Given the description of an element on the screen output the (x, y) to click on. 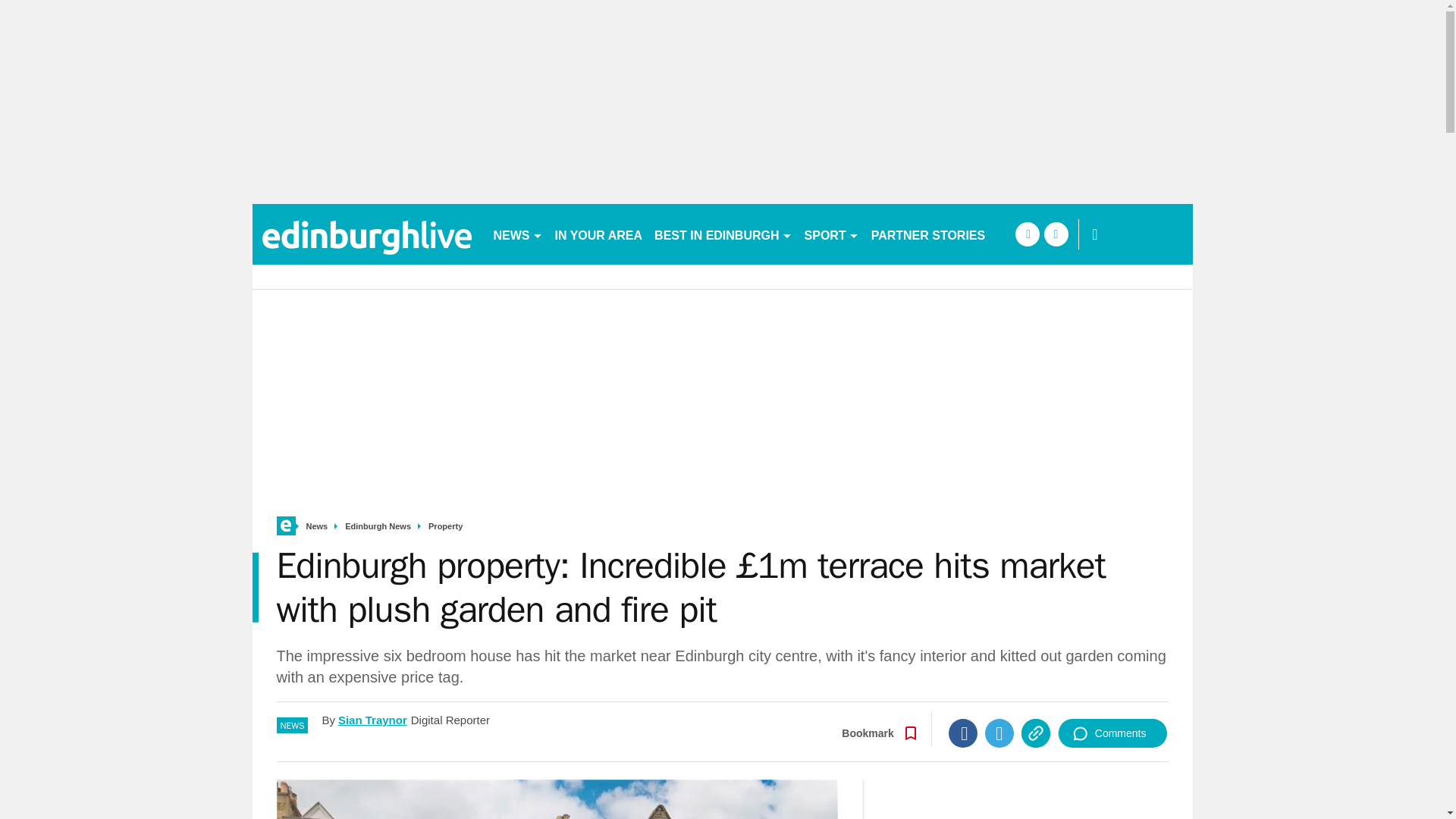
twitter (1055, 233)
edinburghlive (365, 233)
Comments (1112, 733)
Facebook (962, 733)
IN YOUR AREA (598, 233)
Twitter (999, 733)
facebook (1026, 233)
PARTNER STORIES (927, 233)
NEWS (517, 233)
BEST IN EDINBURGH (722, 233)
